Given the description of an element on the screen output the (x, y) to click on. 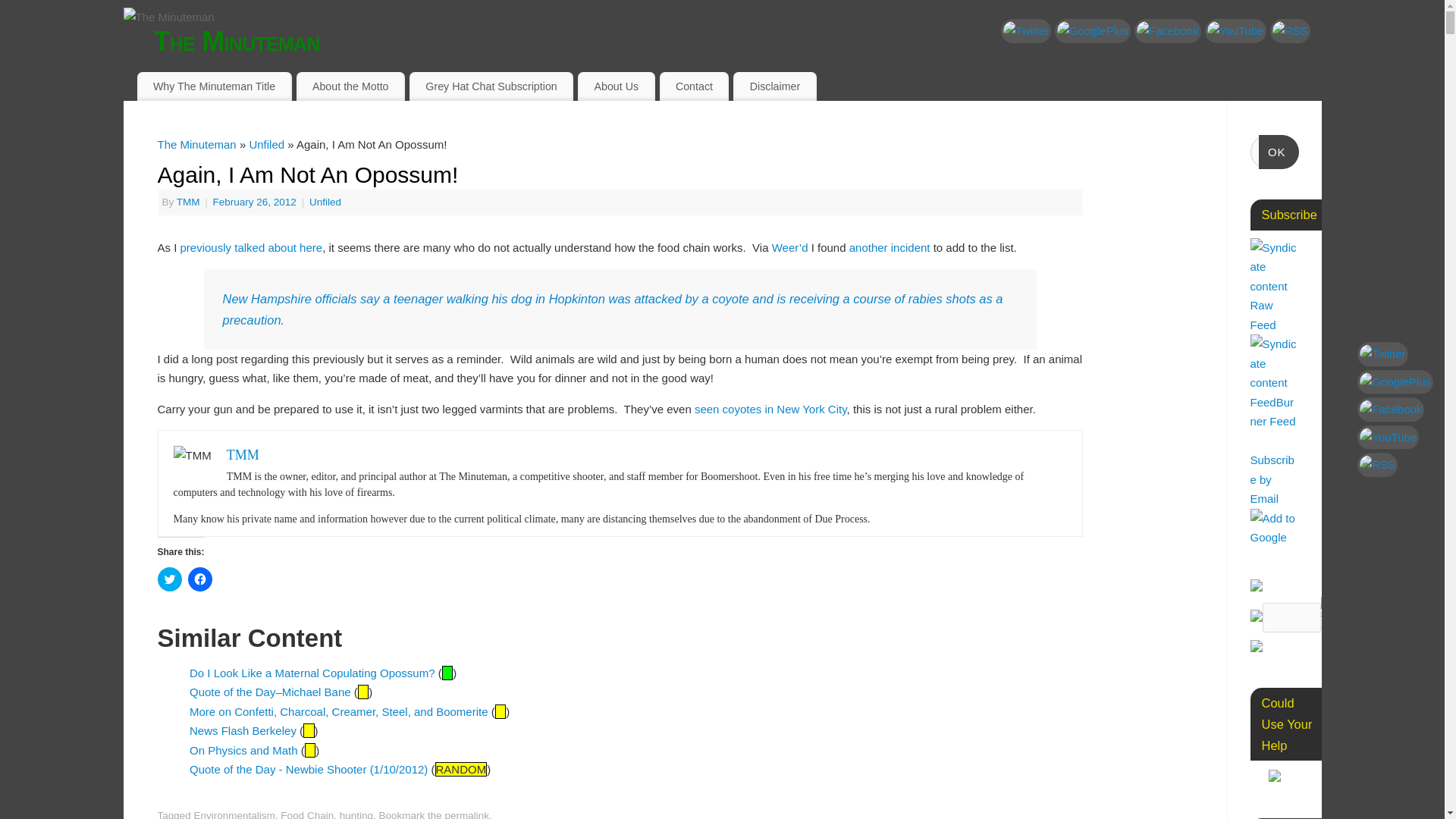
another incident (889, 246)
Twitter (1026, 30)
Why The Minuteman Title (213, 86)
More on Confetti, Charcoal, Creamer, Steel, and Boomerite (338, 711)
Unfiled (324, 202)
Facebook (1167, 30)
YouTube (1235, 30)
Grey Hat Chat Subscription (491, 86)
RSS (1289, 30)
